Given the description of an element on the screen output the (x, y) to click on. 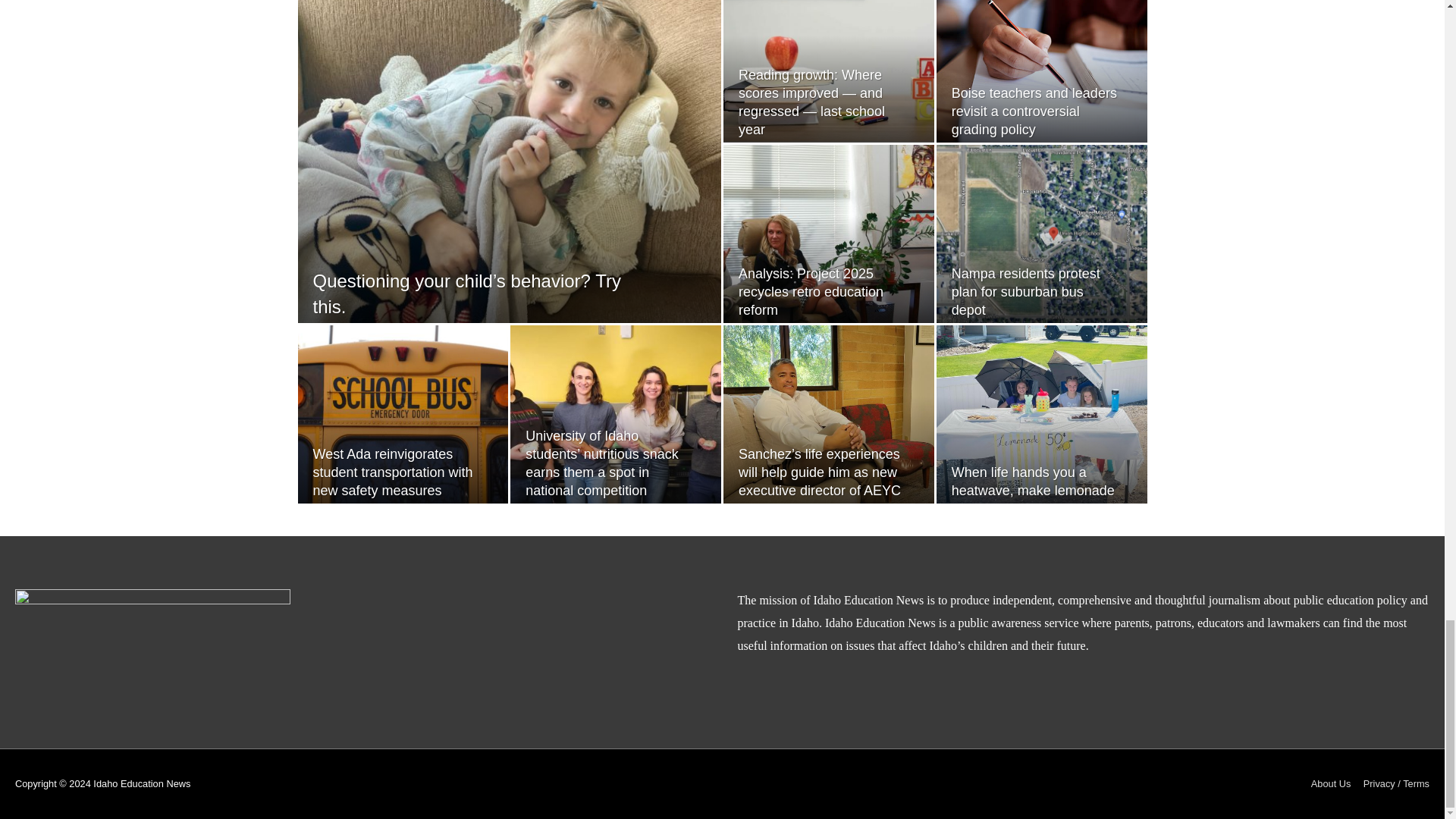
Nampa residents protest plan for suburban bus depot (1026, 291)
Analysis: Project 2025 recycles retro education reform (810, 291)
